Given the description of an element on the screen output the (x, y) to click on. 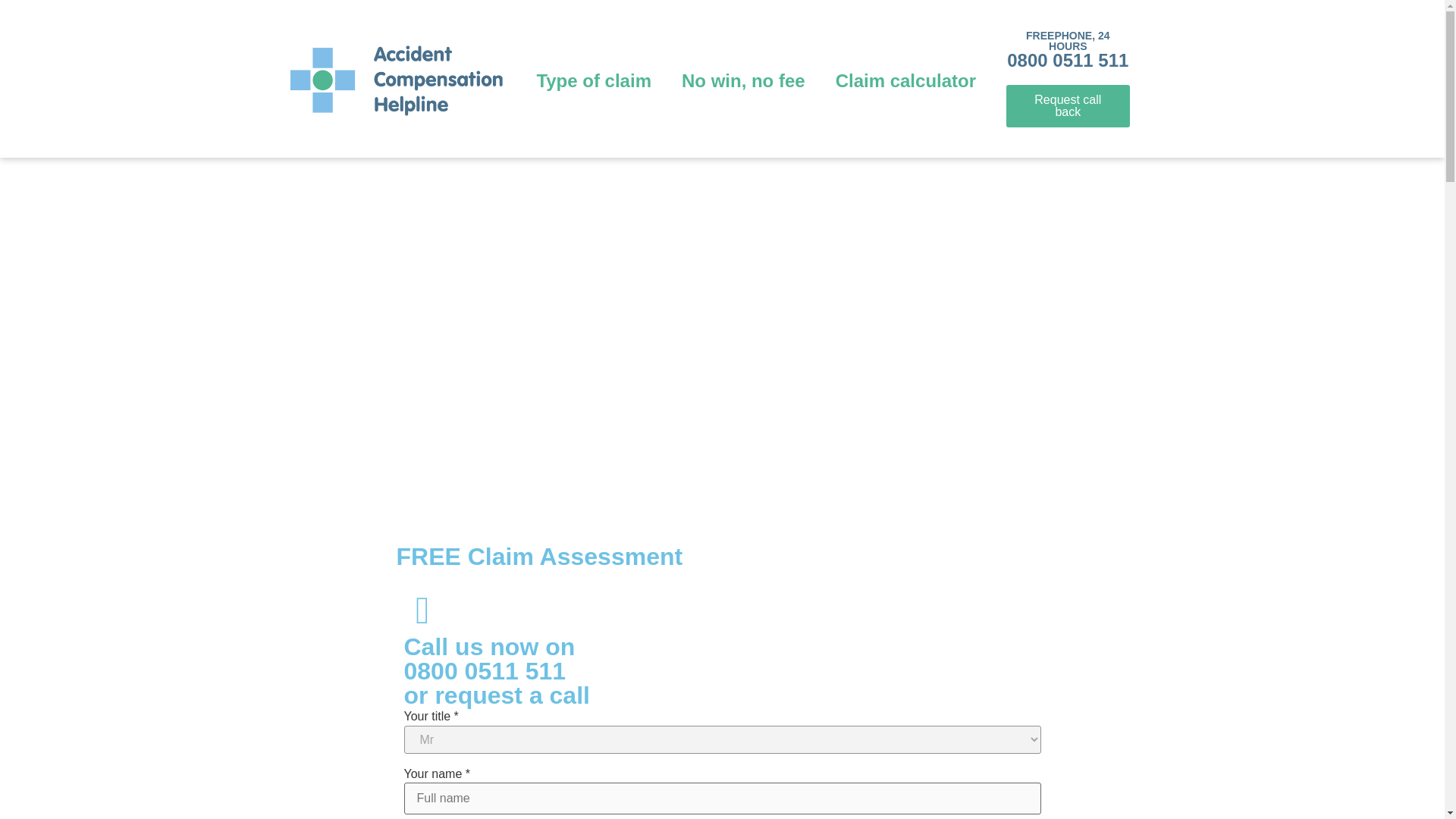
No win, no fee (743, 80)
Request call back (1067, 106)
Type of claim (593, 80)
0800 0511 511 (484, 670)
Claim calculator (906, 80)
0800 0511 511 (1067, 59)
